Given the description of an element on the screen output the (x, y) to click on. 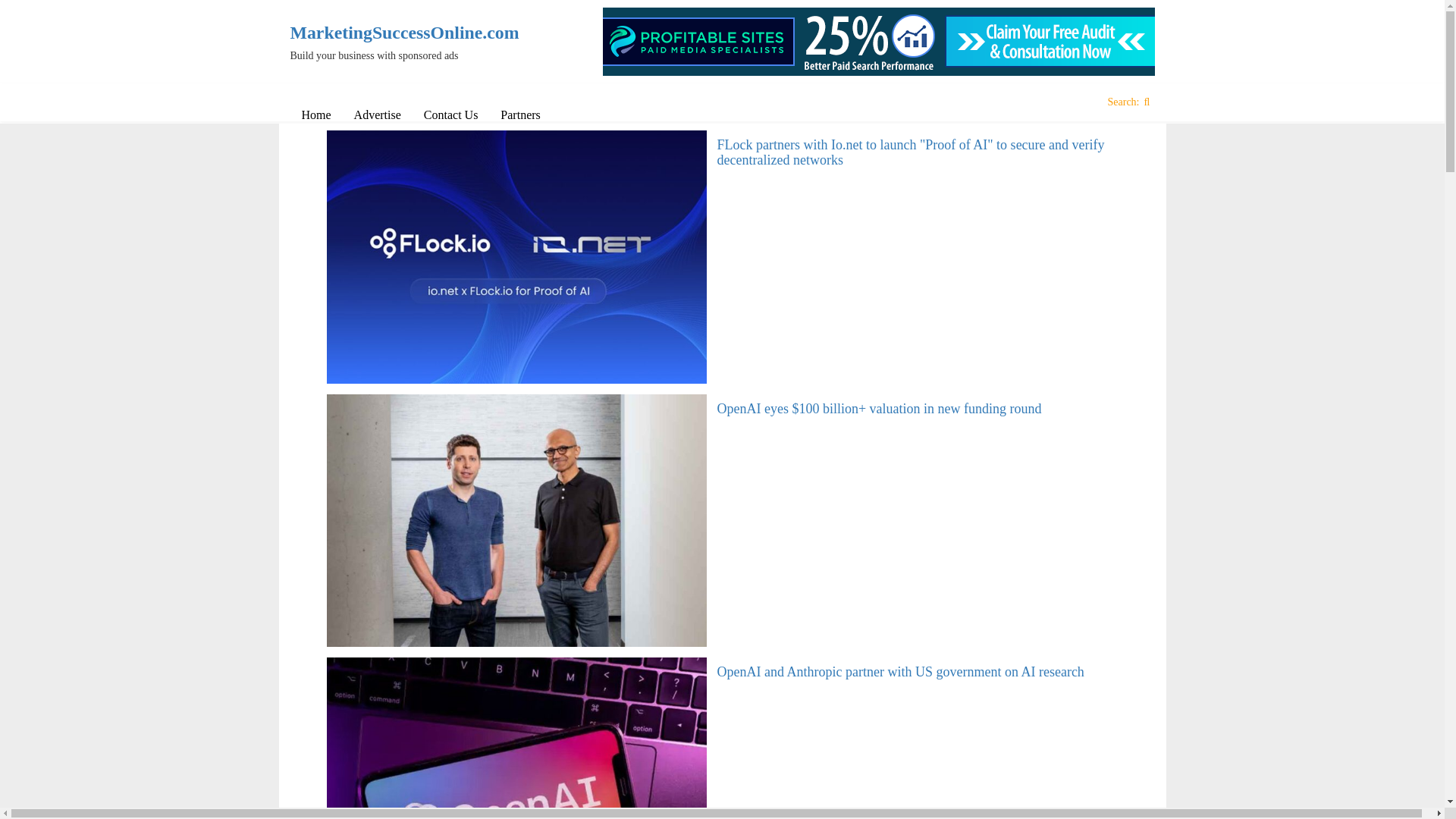
Contact Us (450, 115)
Home (315, 115)
MarketingSuccessOnline.com (389, 32)
Partners (520, 115)
Advertise (377, 115)
